Given the description of an element on the screen output the (x, y) to click on. 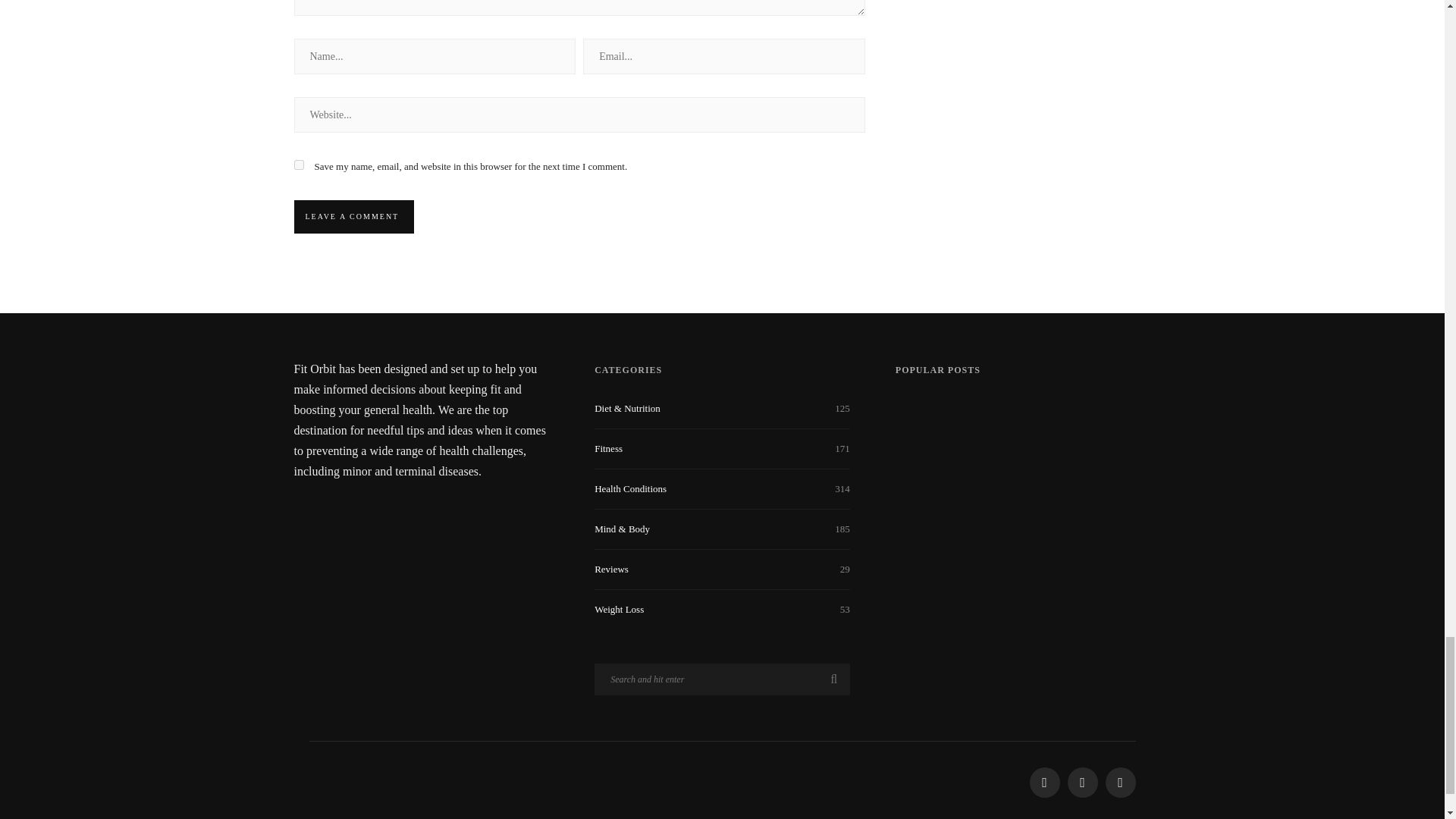
yes (299, 164)
Leave a comment (351, 216)
